Given the description of an element on the screen output the (x, y) to click on. 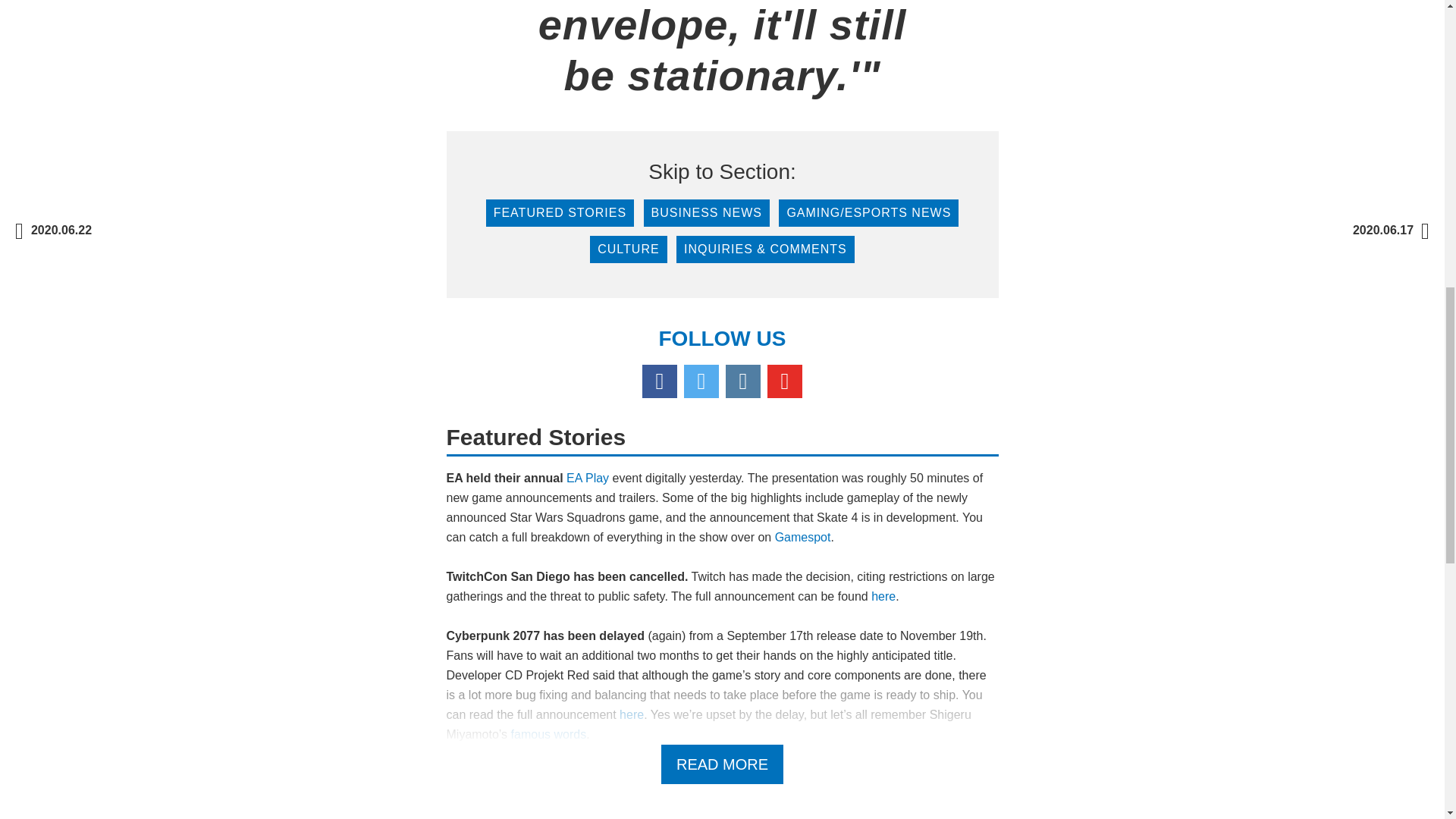
here (631, 714)
EA Play (587, 477)
FEATURED STORIES (559, 212)
famous words (548, 734)
here (882, 595)
CULTURE (627, 248)
BUSINESS NEWS (706, 212)
READ MORE (722, 763)
Gamespot (802, 536)
